Given the description of an element on the screen output the (x, y) to click on. 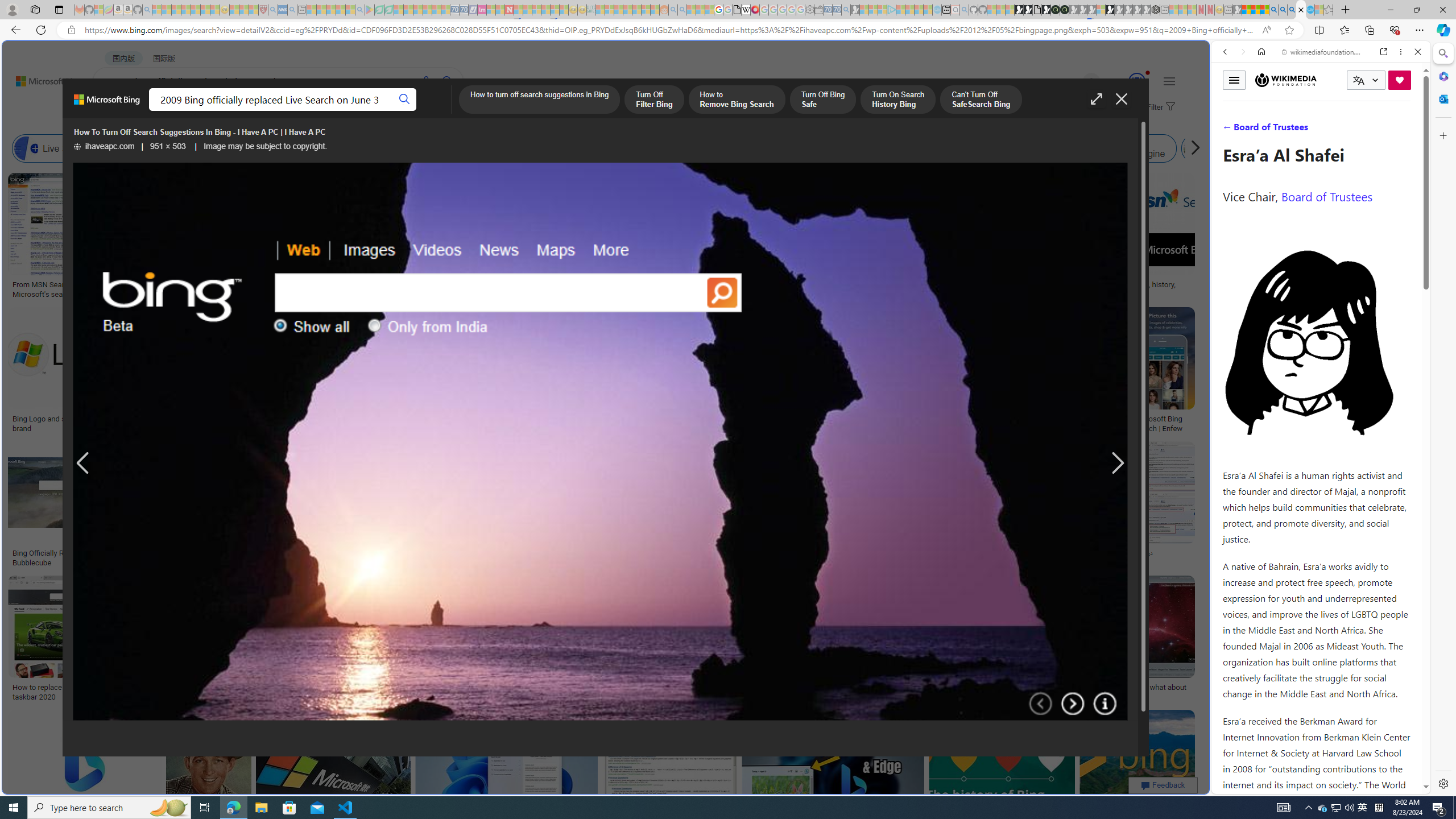
WEB (114, 111)
utah sues federal government - Search (922, 389)
Microsoft Bing Search | EnfewSave (1162, 371)
CURRENT LANGUAGE: (1366, 80)
Dropdown Menu (451, 111)
Services - Maintenance | Sky Blue Bikes - Sky Blue Bikes (1309, 9)
Class: item col (1233, 148)
